Given the description of an element on the screen output the (x, y) to click on. 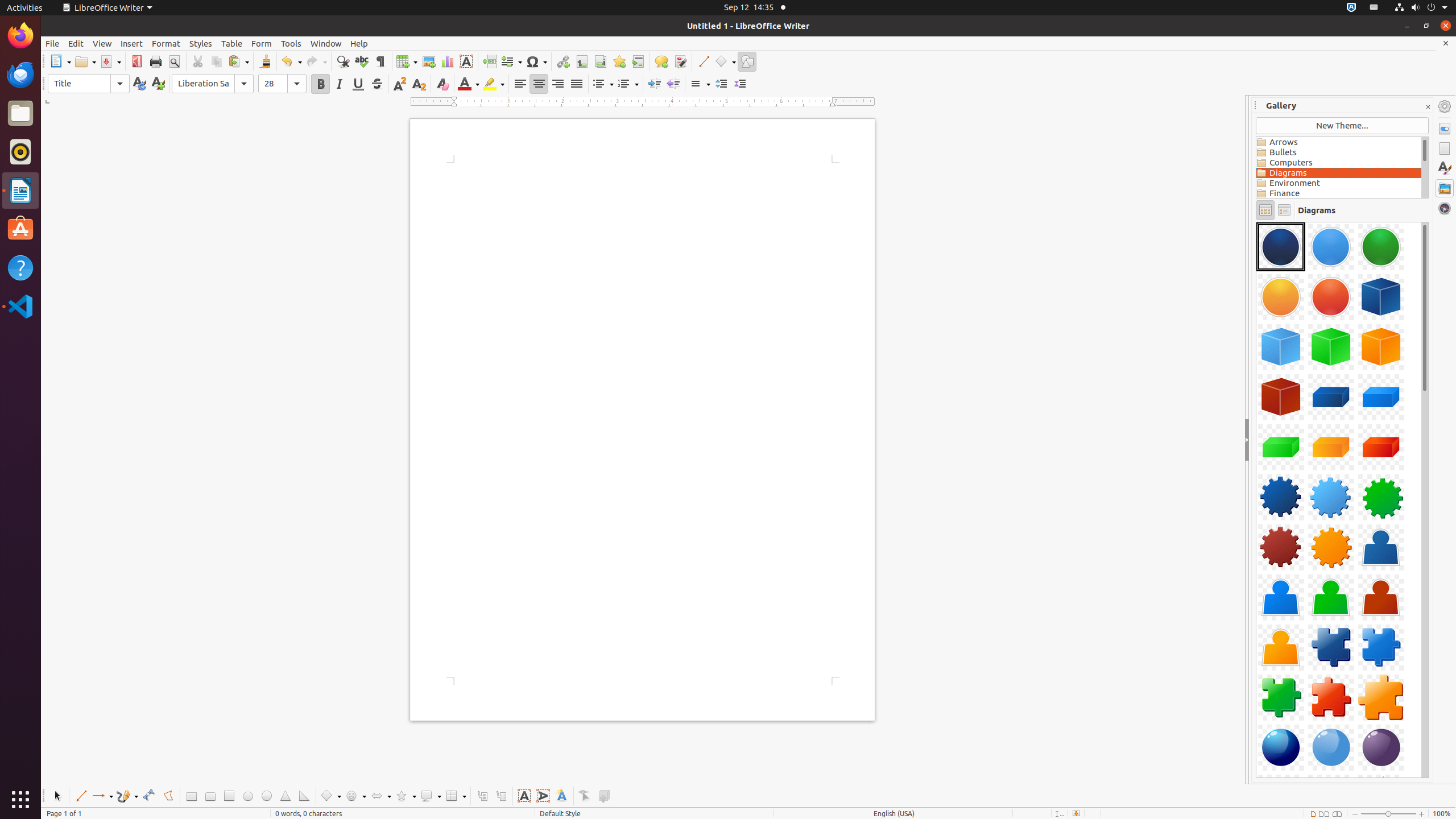
LibreOffice Writer Element type: menu (106, 7)
Field Element type: push-button (510, 61)
Line Element type: push-button (80, 795)
Copy Element type: push-button (216, 61)
Symbol Shapes Element type: push-button (354, 795)
